Given the description of an element on the screen output the (x, y) to click on. 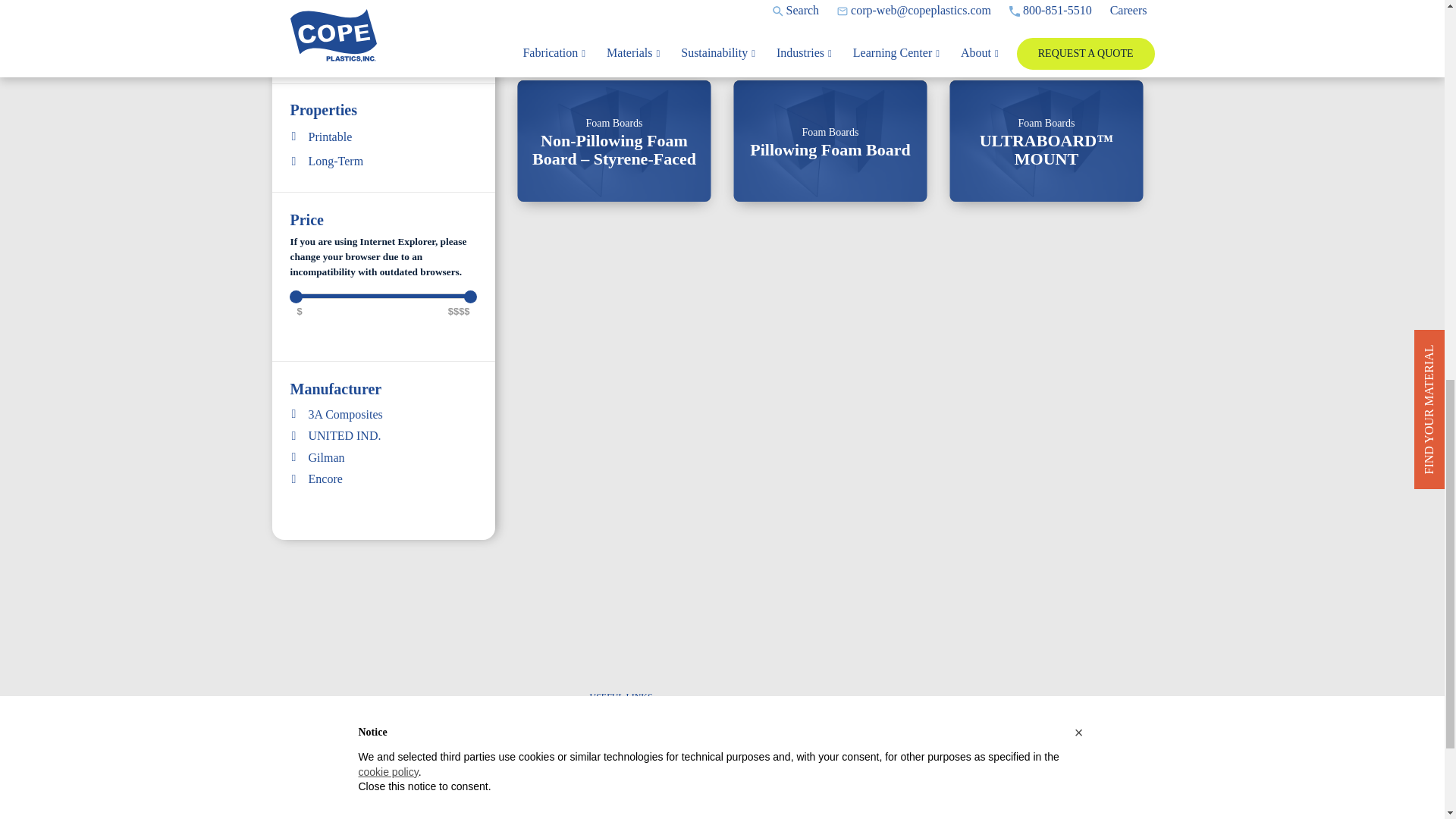
LogoCreated with Sketch. (338, 764)
Sheet (349, 18)
